Given the description of an element on the screen output the (x, y) to click on. 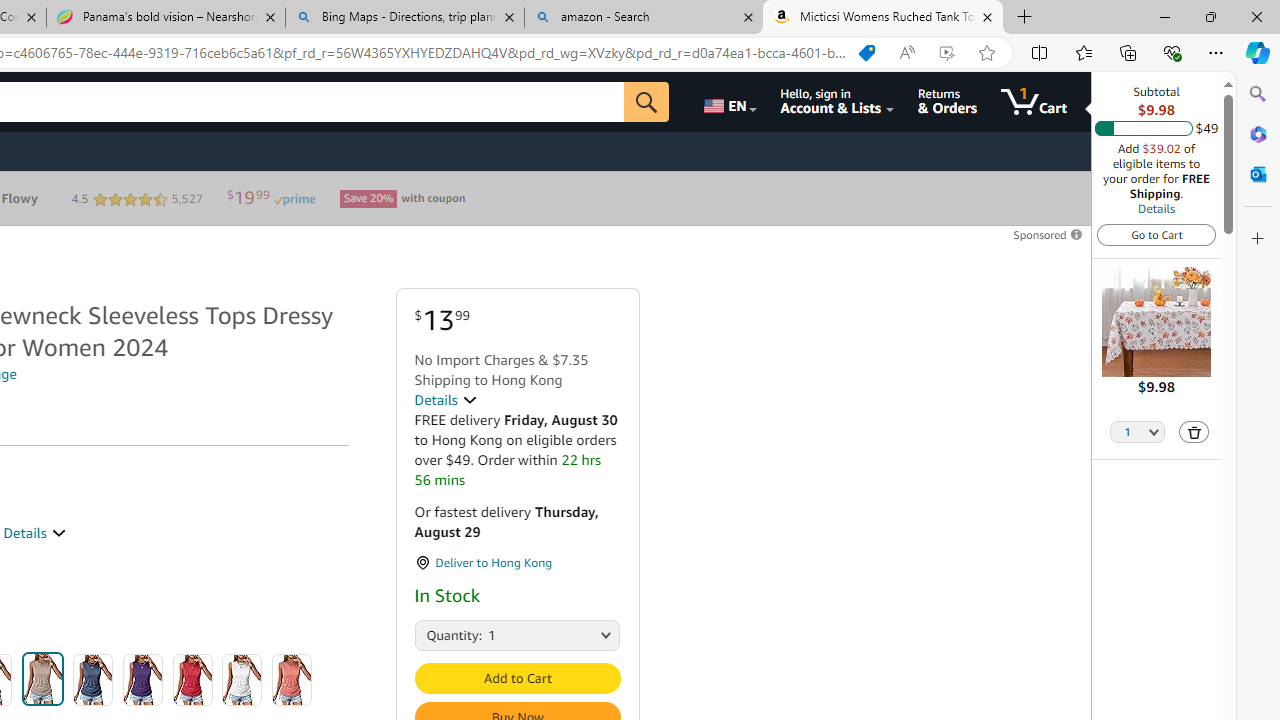
Details  (445, 399)
Returns & Orders (946, 101)
Quantity: (436, 633)
Prime (294, 198)
1 item in cart (1034, 101)
Details (1156, 208)
Choose a language for shopping. (728, 101)
